Given the description of an element on the screen output the (x, y) to click on. 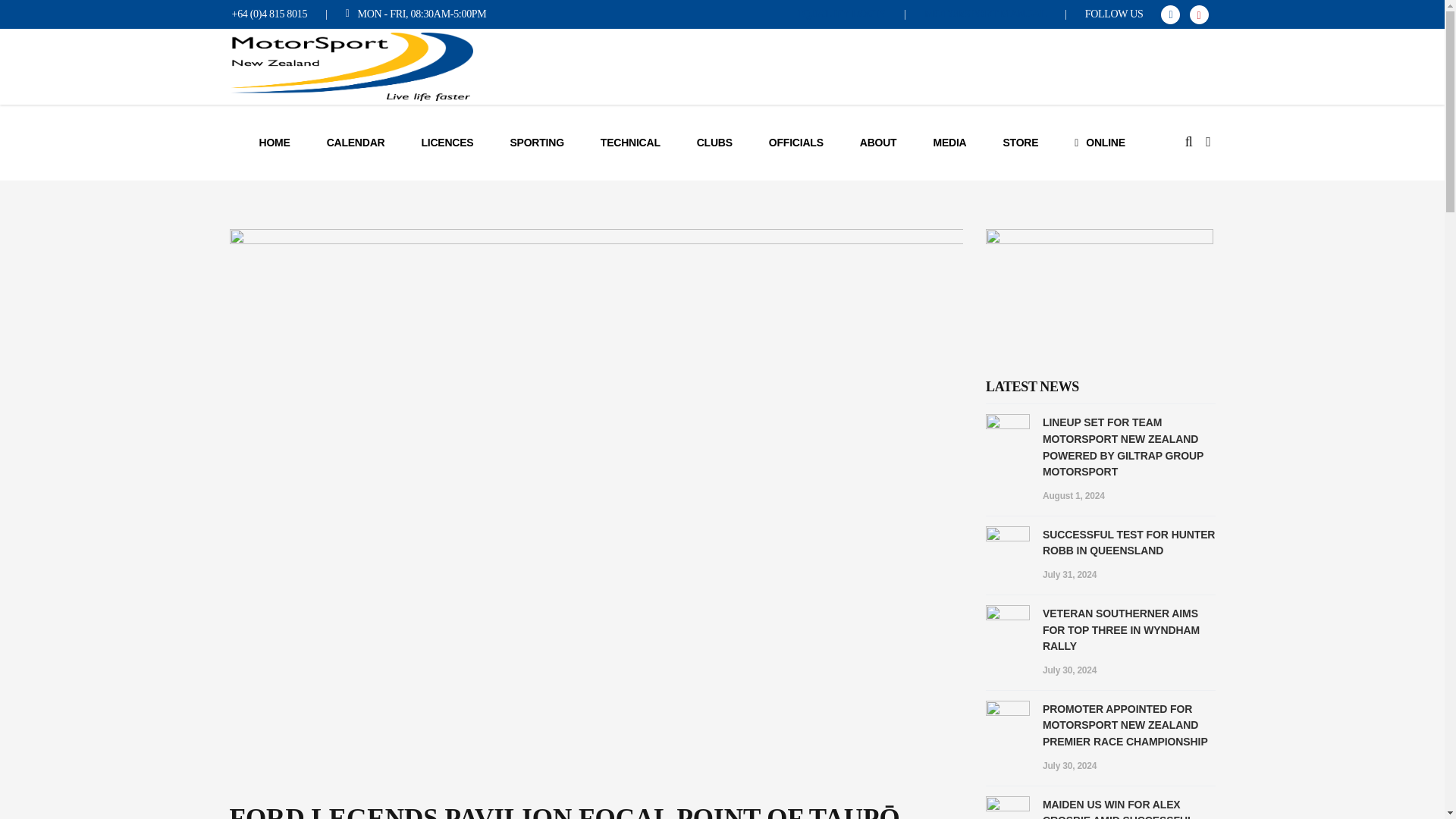
TECHNICAL (630, 142)
HOME (274, 142)
IQUALIFY LOGIN (841, 13)
MOTORSPORT MANUAL (985, 13)
LICENCES (447, 142)
SPORTING (536, 142)
CALENDAR (355, 142)
